Given the description of an element on the screen output the (x, y) to click on. 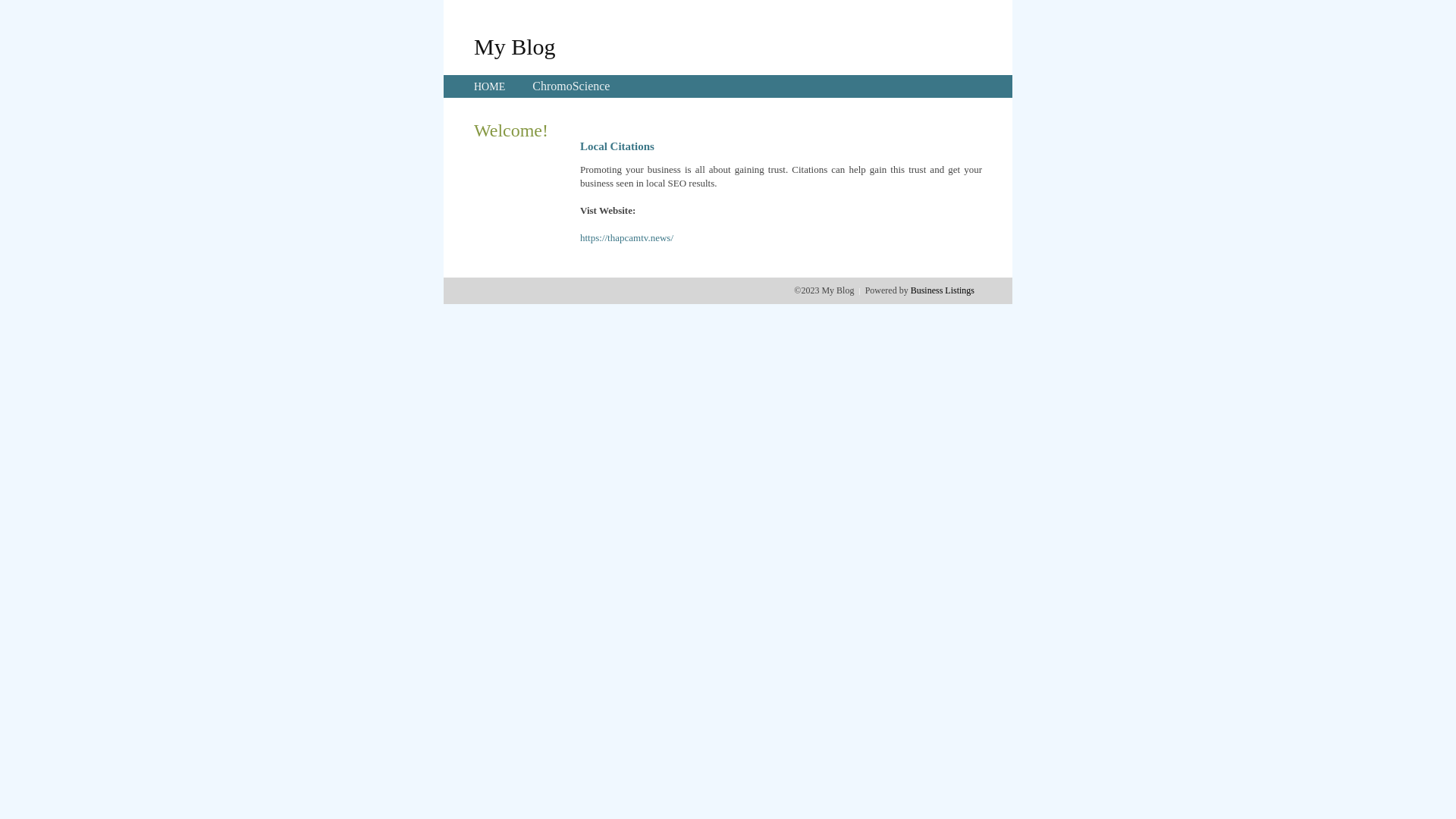
Business Listings Element type: text (942, 290)
https://thapcamtv.news/ Element type: text (626, 237)
ChromoScience Element type: text (570, 85)
HOME Element type: text (489, 86)
My Blog Element type: text (514, 46)
